Given the description of an element on the screen output the (x, y) to click on. 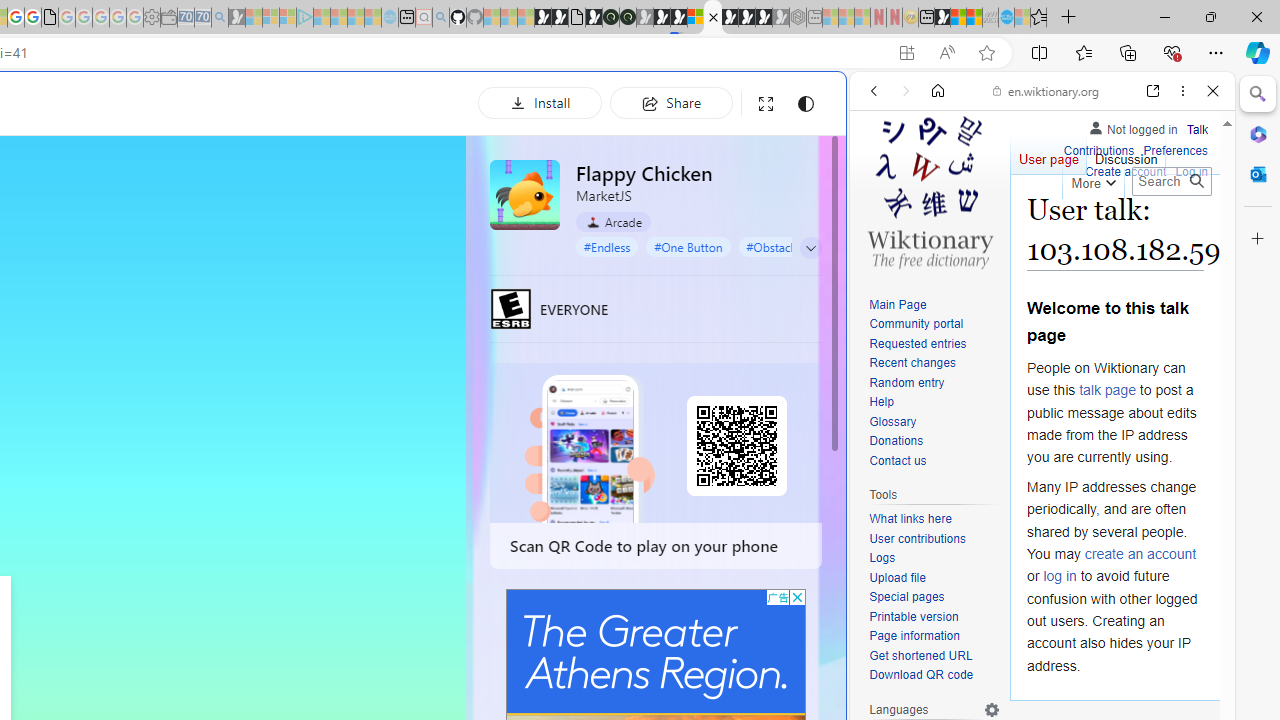
Forward (906, 91)
Community portal (934, 324)
Logs (882, 557)
AutomationID: cbb (797, 596)
Talk (1197, 129)
What links here (910, 519)
en.wiktionary.org (1046, 90)
Class: expand-arrow neutral (810, 247)
Settings - Sleeping (151, 17)
